Given the description of an element on the screen output the (x, y) to click on. 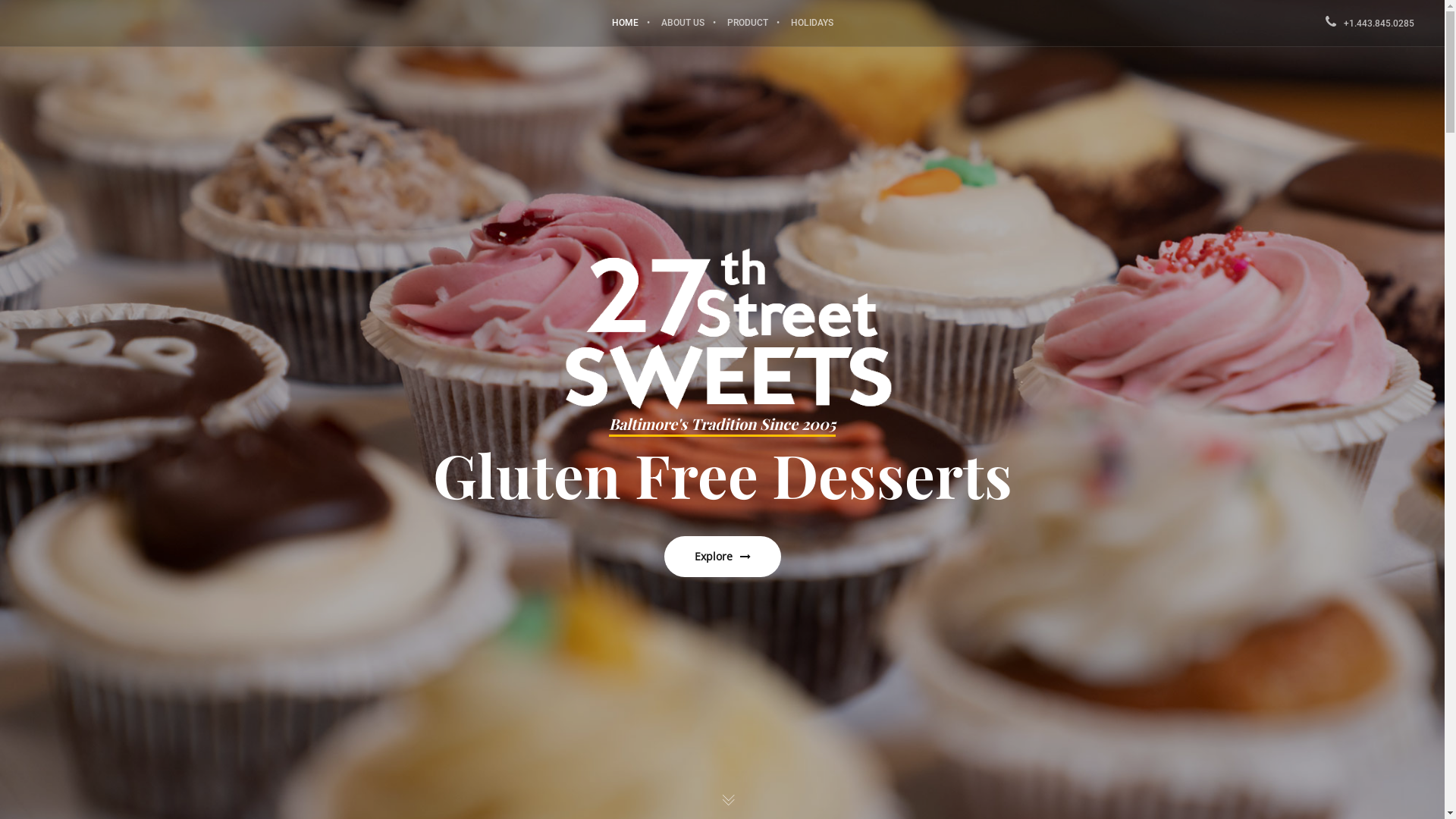
ABOUT US Element type: text (682, 22)
Explore Element type: text (722, 556)
HOLIDAYS Element type: text (811, 22)
+1.443.845.0285 Element type: text (1369, 23)
PRODUCT Element type: text (747, 22)
HOME Element type: text (624, 22)
